Given the description of an element on the screen output the (x, y) to click on. 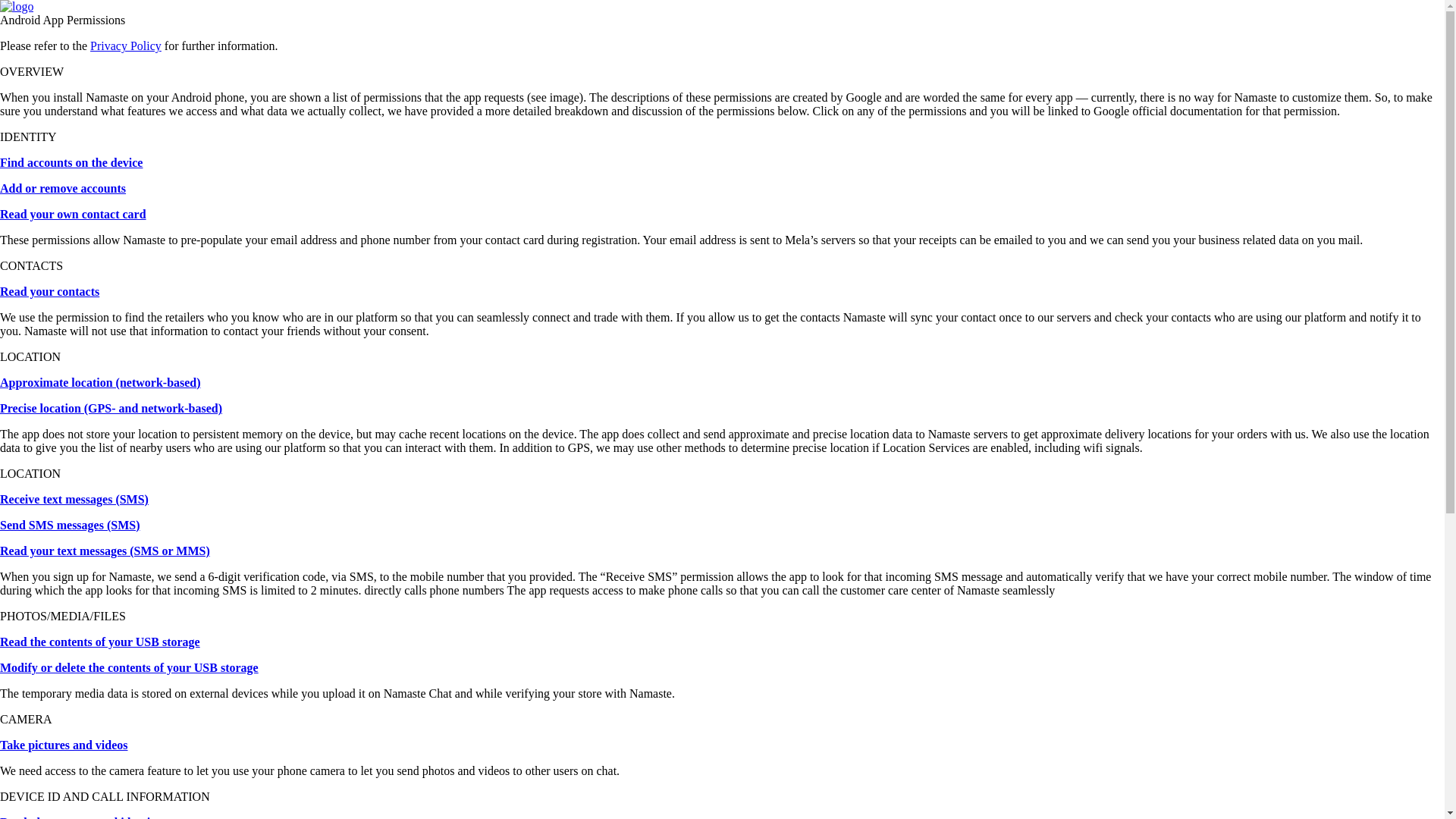
Read your own contact card Element type: text (73, 213)
Take pictures and videos Element type: text (63, 744)
Privacy Policy Element type: text (125, 45)
Add or remove accounts Element type: text (62, 188)
Precise location (GPS- and network-based) Element type: text (111, 407)
Read your text messages (SMS or MMS) Element type: text (105, 550)
Modify or delete the contents of your USB storage Element type: text (129, 667)
Read your contacts Element type: text (49, 291)
Receive text messages (SMS) Element type: text (74, 498)
Read the contents of your USB storage Element type: text (100, 641)
Find accounts on the device Element type: text (71, 162)
Approximate location (network-based) Element type: text (100, 382)
Send SMS messages (SMS) Element type: text (69, 524)
